Given the description of an element on the screen output the (x, y) to click on. 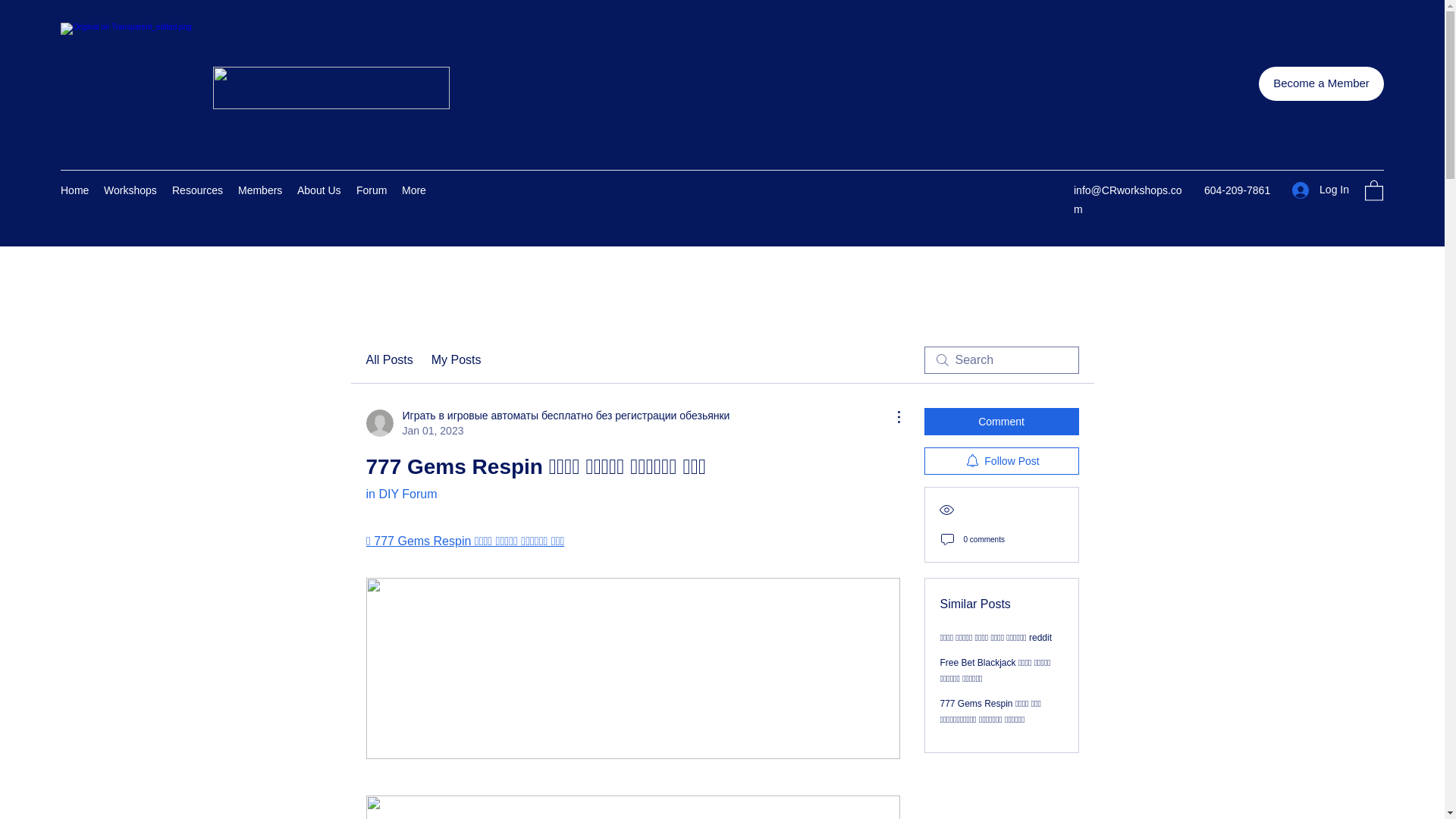
Resources (197, 190)
Forum (371, 190)
Home (74, 190)
About Us (319, 190)
My Posts (455, 360)
Follow Post (1000, 461)
Members (259, 190)
Comment (1000, 420)
Become a Member (1321, 83)
Log In (1320, 189)
